Given the description of an element on the screen output the (x, y) to click on. 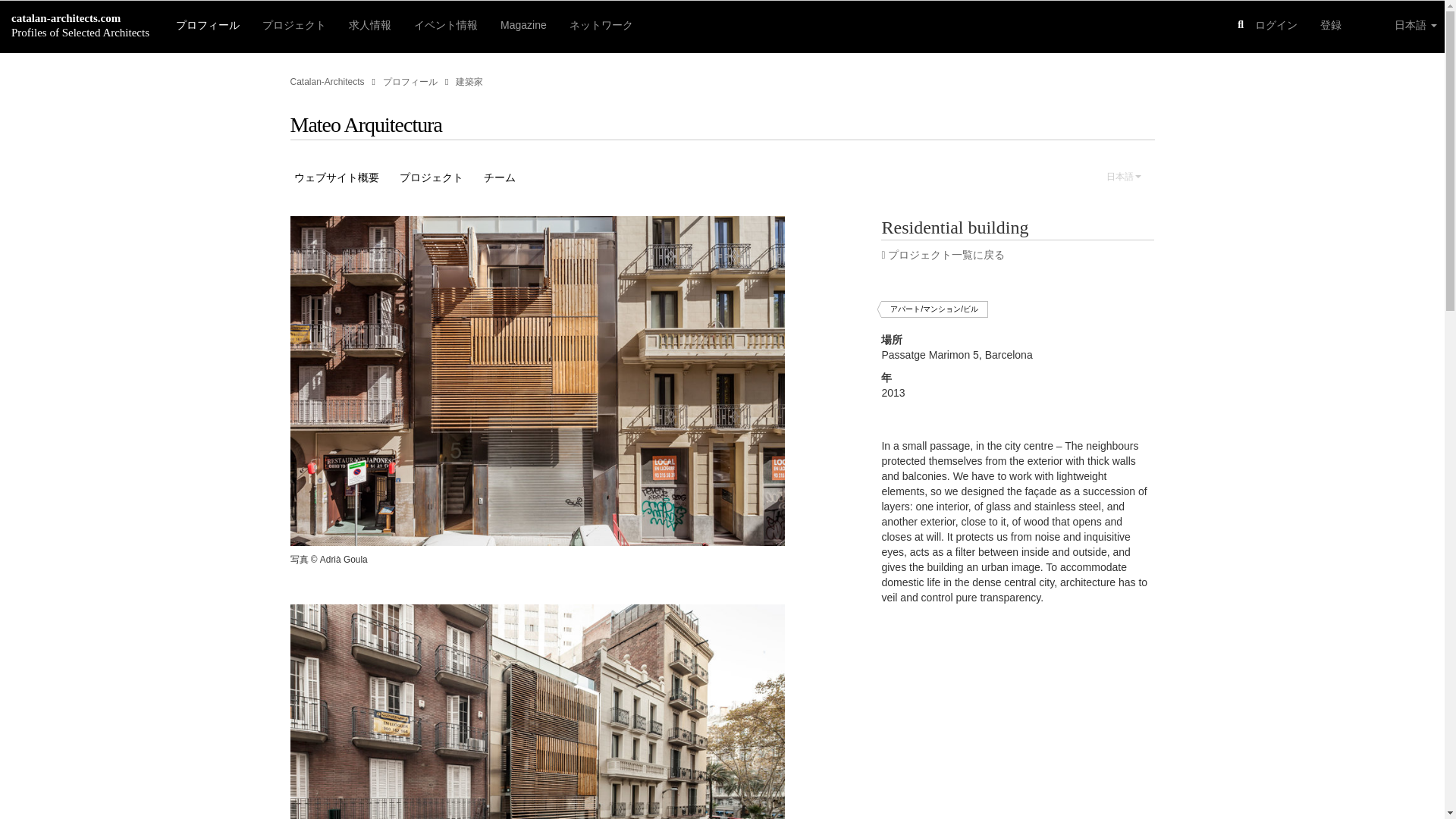
Mateo Arquitectura (365, 124)
Magazine (523, 22)
Catalan-Architects (326, 81)
catalan-architects.com (65, 18)
